Given the description of an element on the screen output the (x, y) to click on. 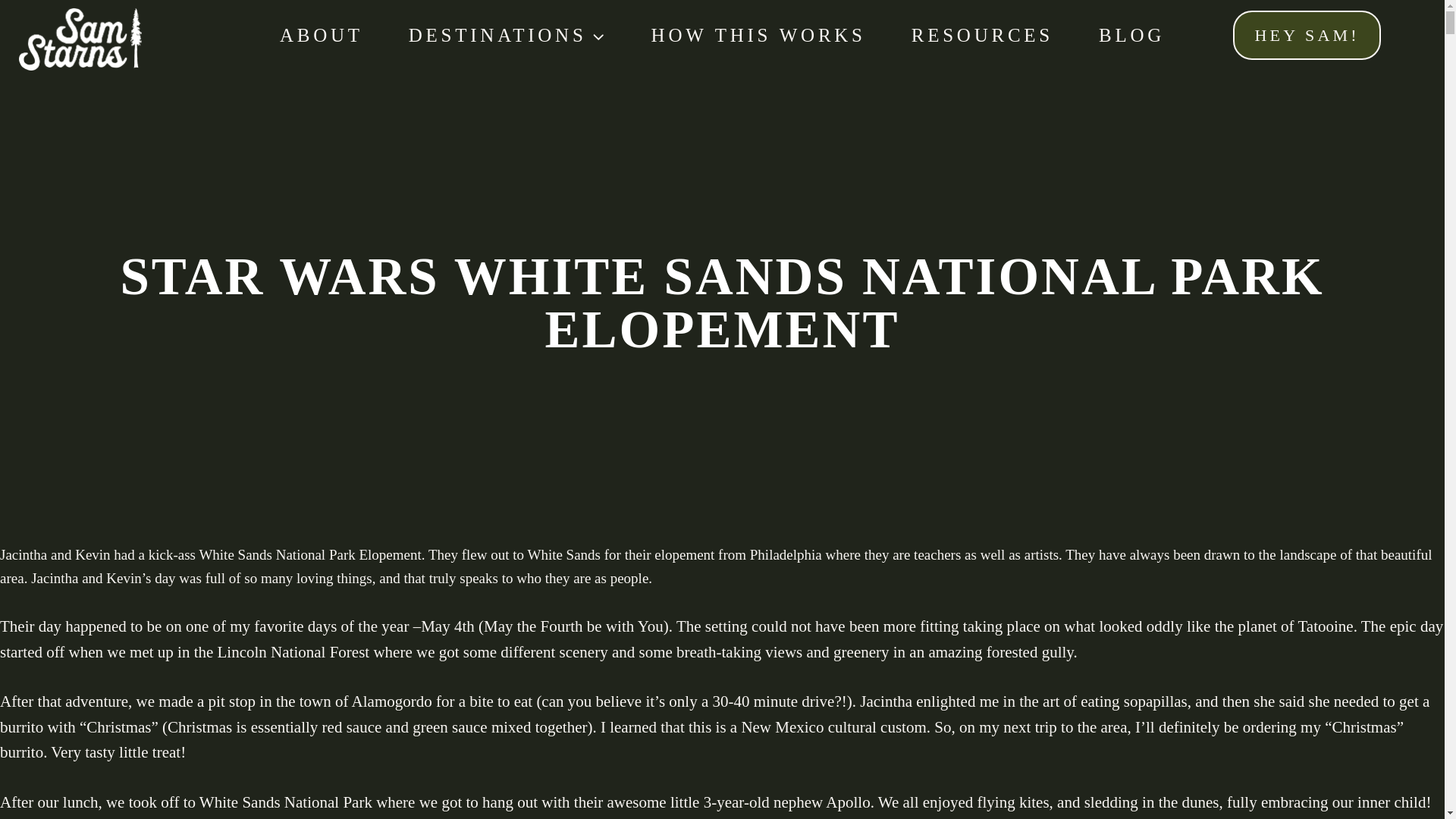
BLOG (1131, 35)
ABOUT (321, 35)
DESTINATIONS (506, 35)
HEY SAM! (1306, 35)
RESOURCES (981, 35)
HOW THIS WORKS (758, 35)
